Given the description of an element on the screen output the (x, y) to click on. 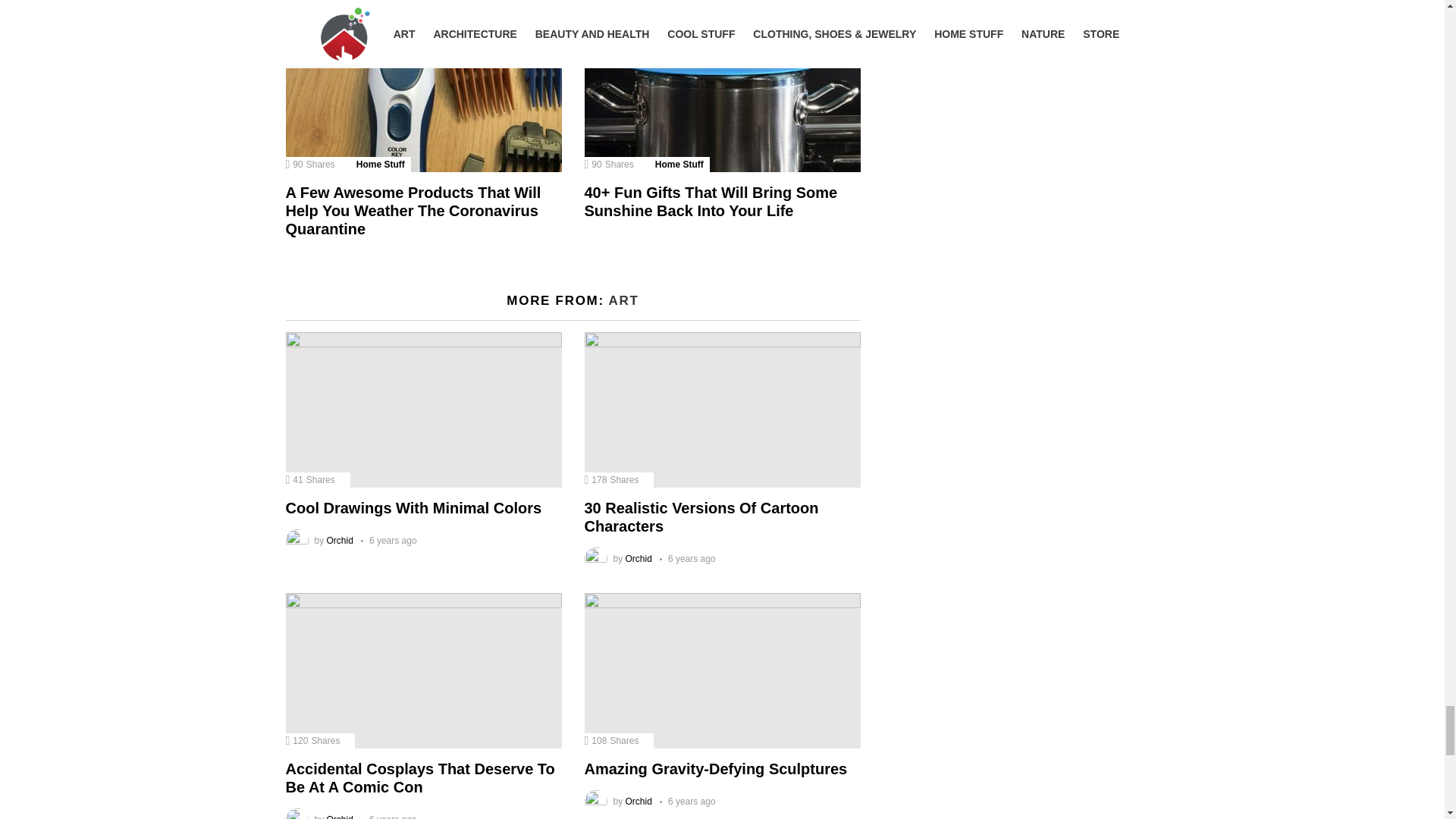
Cool Drawings With Minimal Colors (422, 409)
February 14, 2018, 1:23 pm (687, 558)
Posts by Orchid (639, 558)
March 14, 2018, 6:03 pm (388, 540)
30 Realistic Versions Of Cartoon Characters (721, 409)
Accidental Cosplays That Deserve To Be At A Comic Con (422, 670)
Posts by Orchid (339, 540)
